Given the description of an element on the screen output the (x, y) to click on. 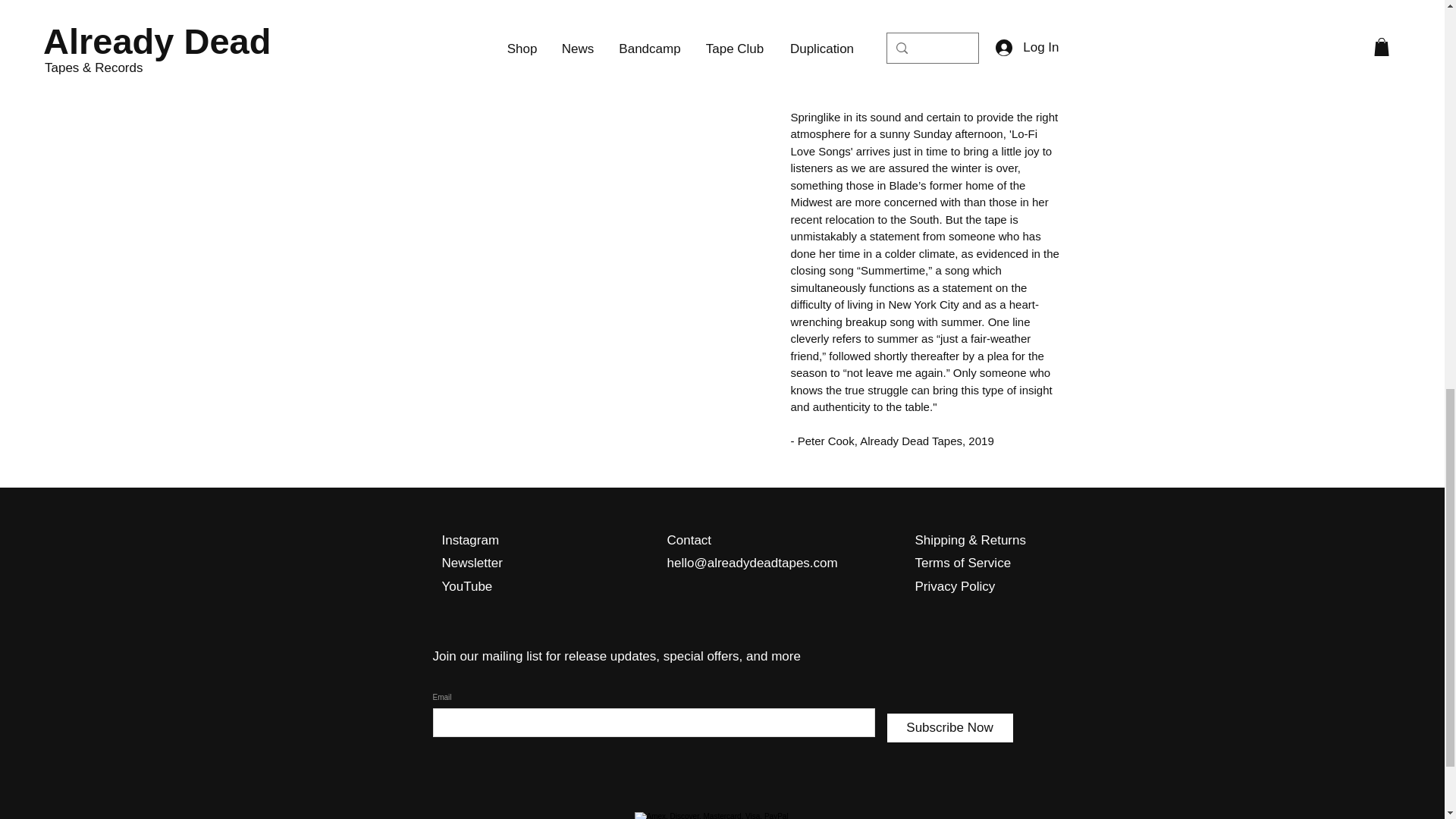
Contact (688, 551)
YouTube (466, 586)
Terms of Service (962, 563)
Instagram (470, 540)
Newsletter (471, 563)
Privacy Policy (954, 586)
